Given the description of an element on the screen output the (x, y) to click on. 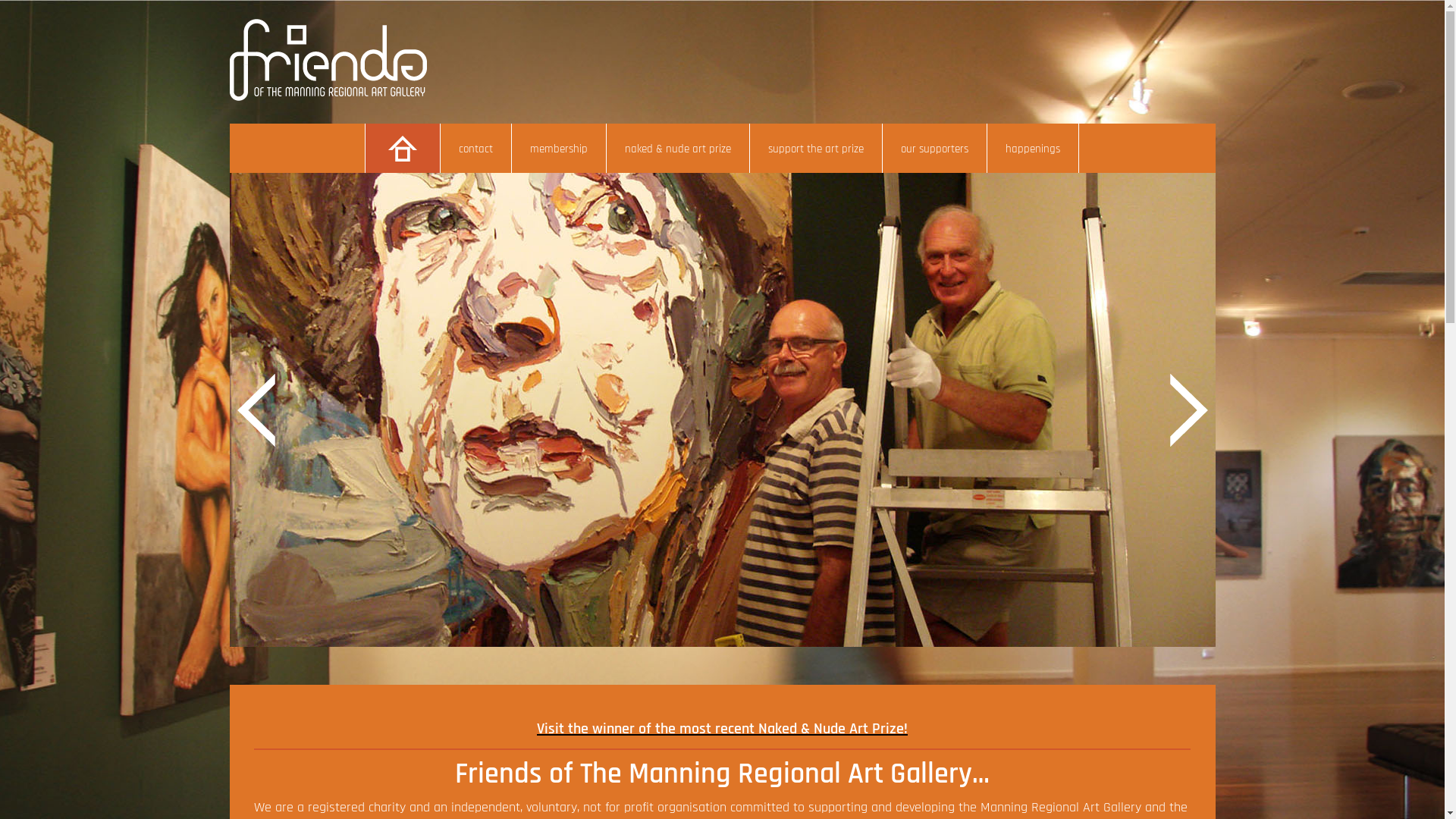
happenings Element type: text (1033, 148)
contact Element type: text (475, 148)
naked & nude art prize Element type: text (677, 148)
Visit the winner of the most recent Naked & Nude Art Prize! Element type: text (721, 728)
membership Element type: text (558, 148)
Next Element type: text (1188, 415)
Previous Element type: text (258, 415)
our supporters Element type: text (934, 148)
support the art prize Element type: text (815, 148)
Friends of the Gallery Element type: hover (327, 97)
